Given the description of an element on the screen output the (x, y) to click on. 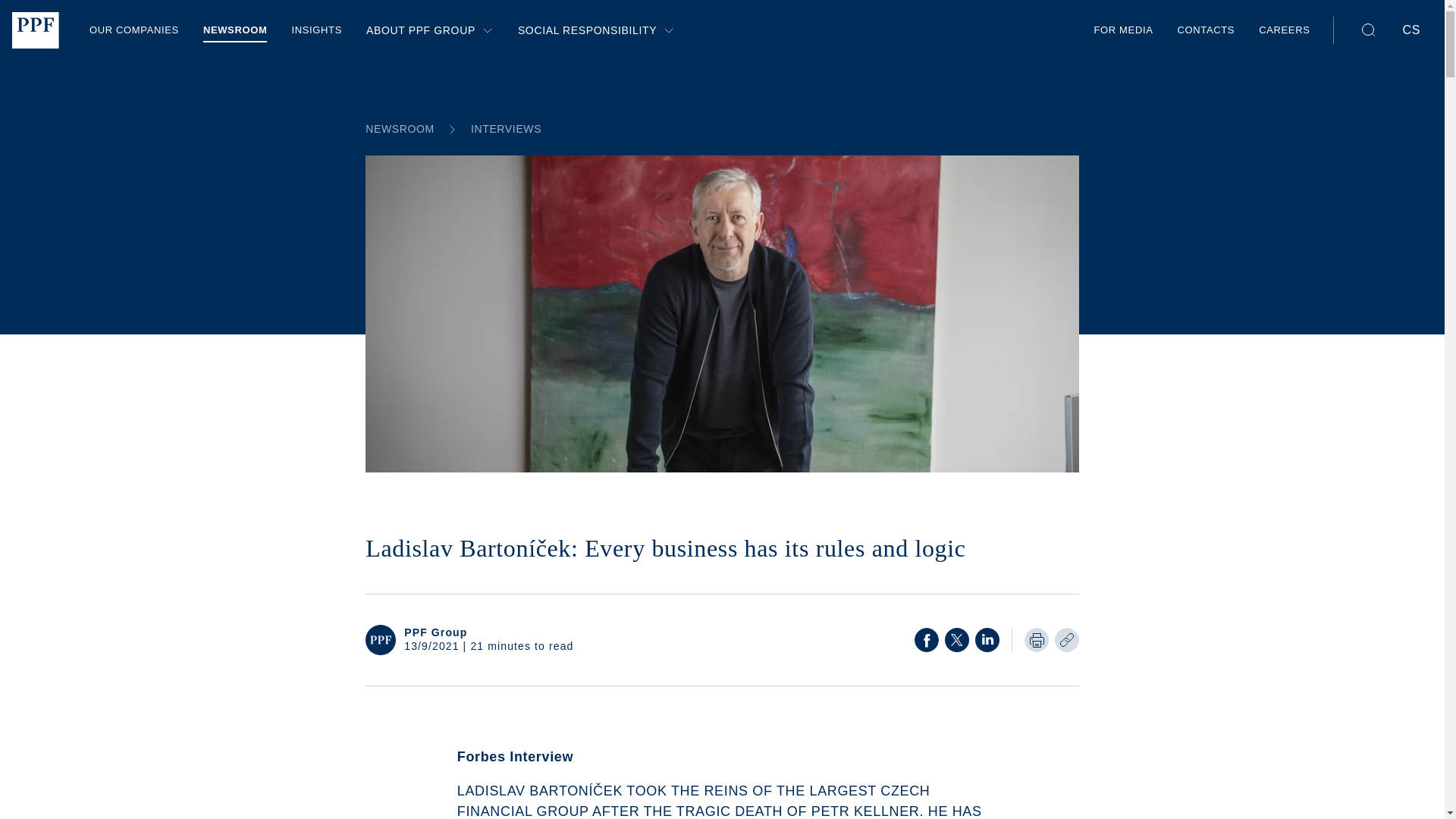
For Media (1123, 30)
CAREERS (1283, 30)
Newsroom (505, 129)
Contacts (1205, 30)
Newsroom (235, 30)
Home (35, 30)
INSIGHTS (316, 30)
OUR COMPANIES (133, 30)
NEWSROOM (235, 30)
INTERVIEWS (505, 129)
